Given the description of an element on the screen output the (x, y) to click on. 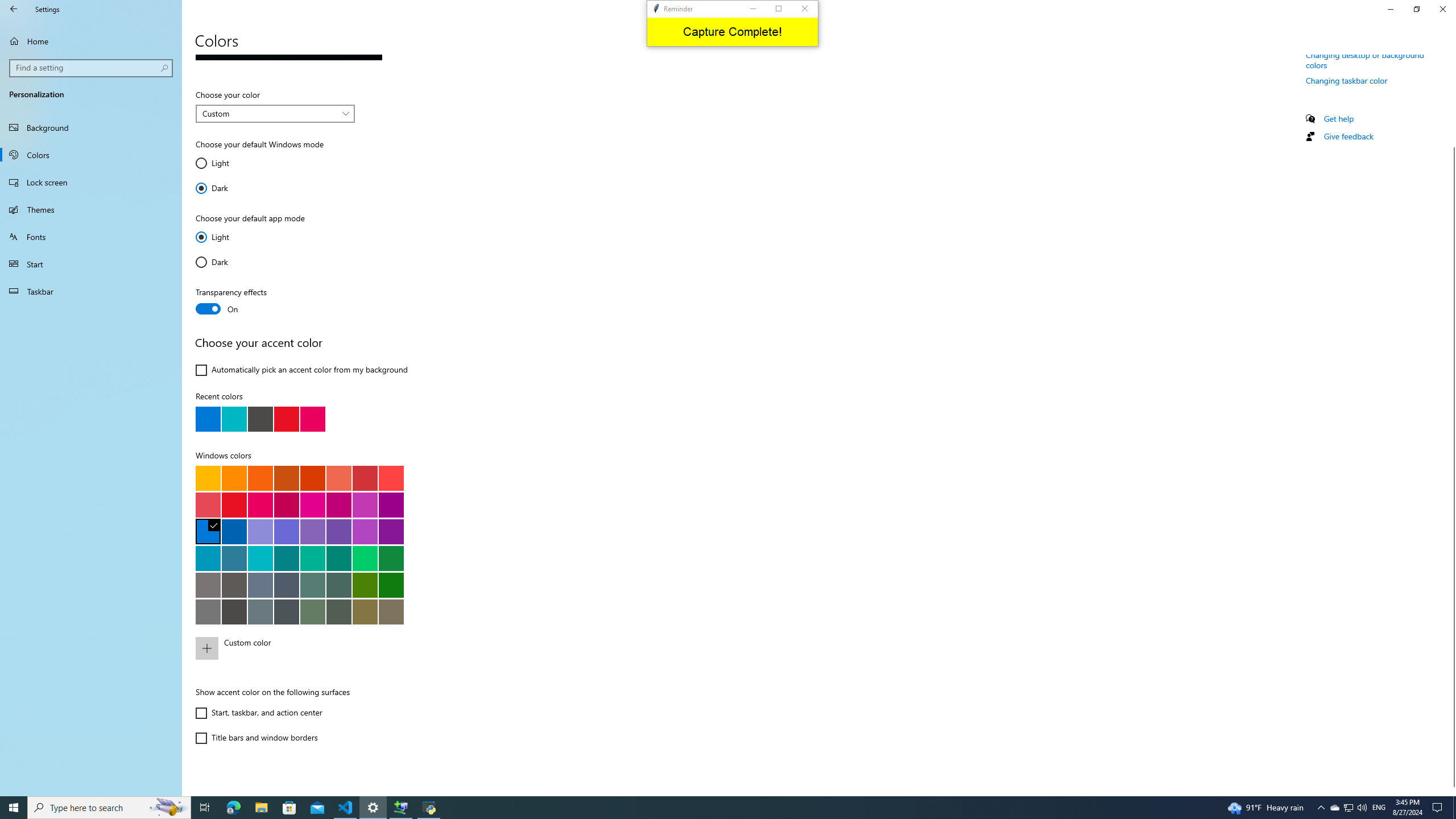
Yellow gold (208, 477)
Purple shadow (260, 531)
Gray (208, 584)
Camouflage (390, 611)
Title bars and window borders (256, 737)
Search box, Find a setting (91, 67)
Violet red (390, 531)
Sport green (390, 557)
Brick red (364, 477)
Seafoam (260, 557)
